Given the description of an element on the screen output the (x, y) to click on. 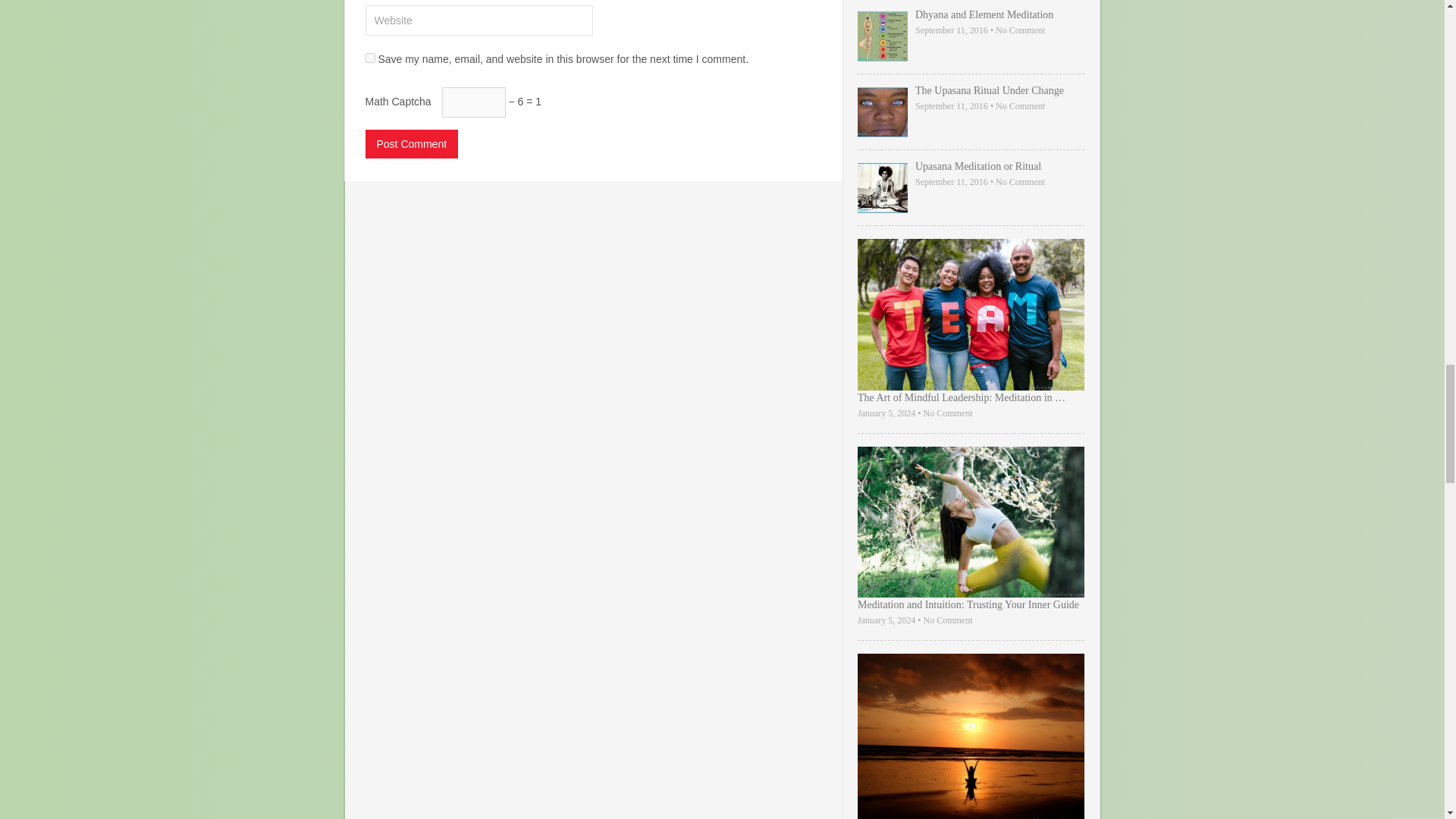
yes (370, 58)
Post Comment (411, 143)
Post Comment (411, 143)
